Given the description of an element on the screen output the (x, y) to click on. 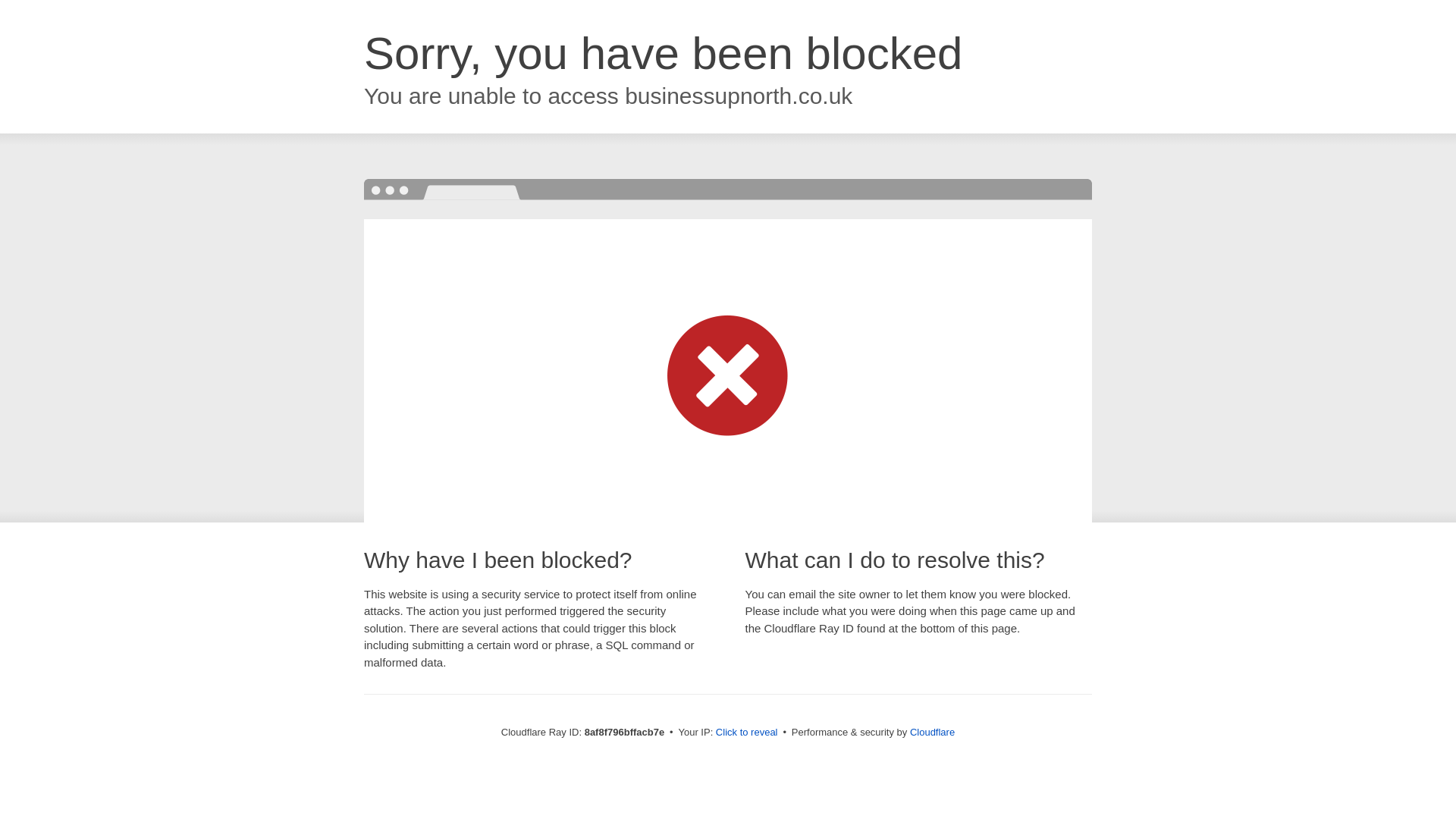
Click to reveal (746, 732)
Cloudflare (932, 731)
